Given the description of an element on the screen output the (x, y) to click on. 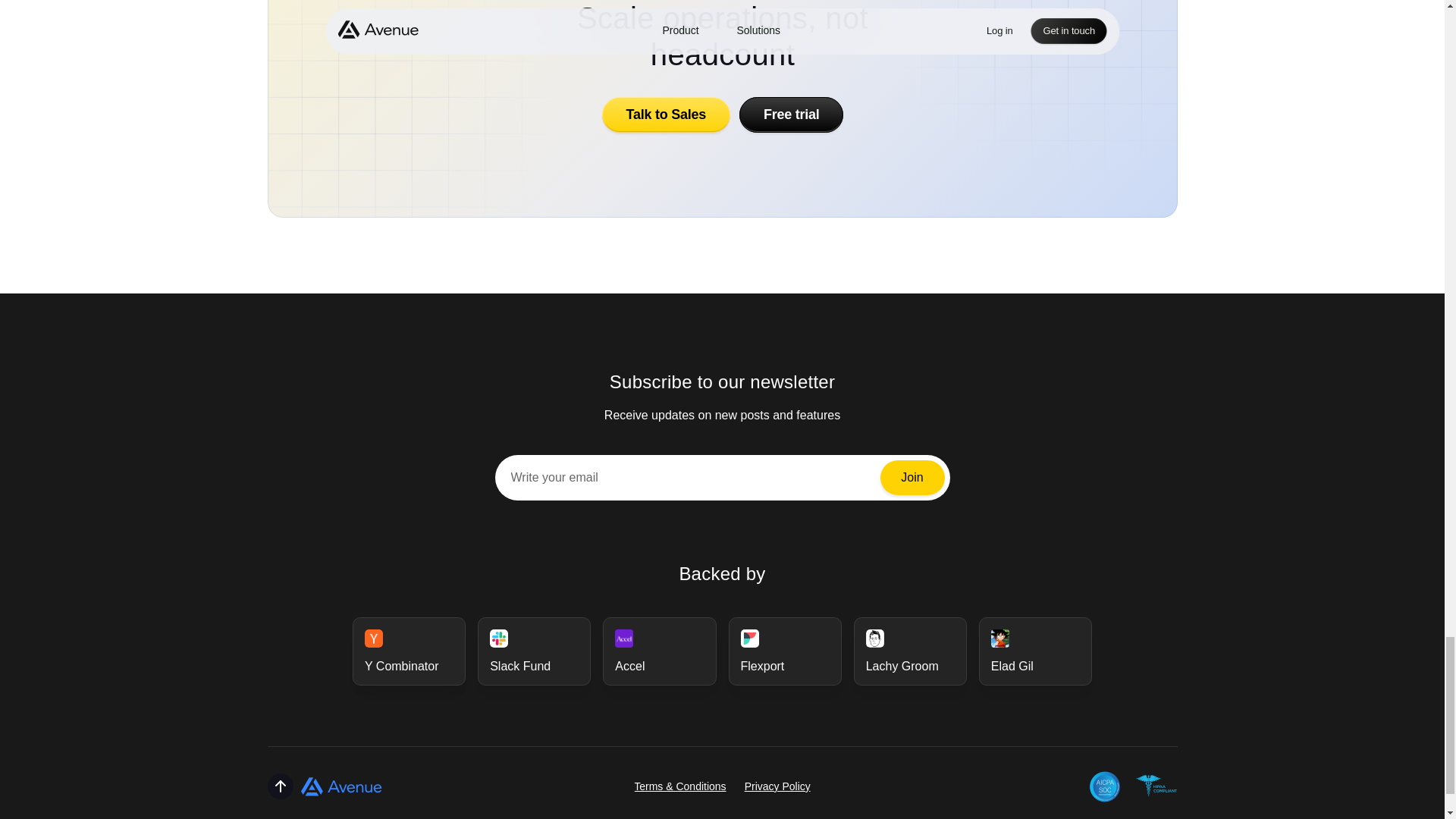
Join (911, 477)
Join (911, 477)
Talk to Sales (665, 113)
Free trial (790, 113)
Privacy Policy (777, 786)
